Given the description of an element on the screen output the (x, y) to click on. 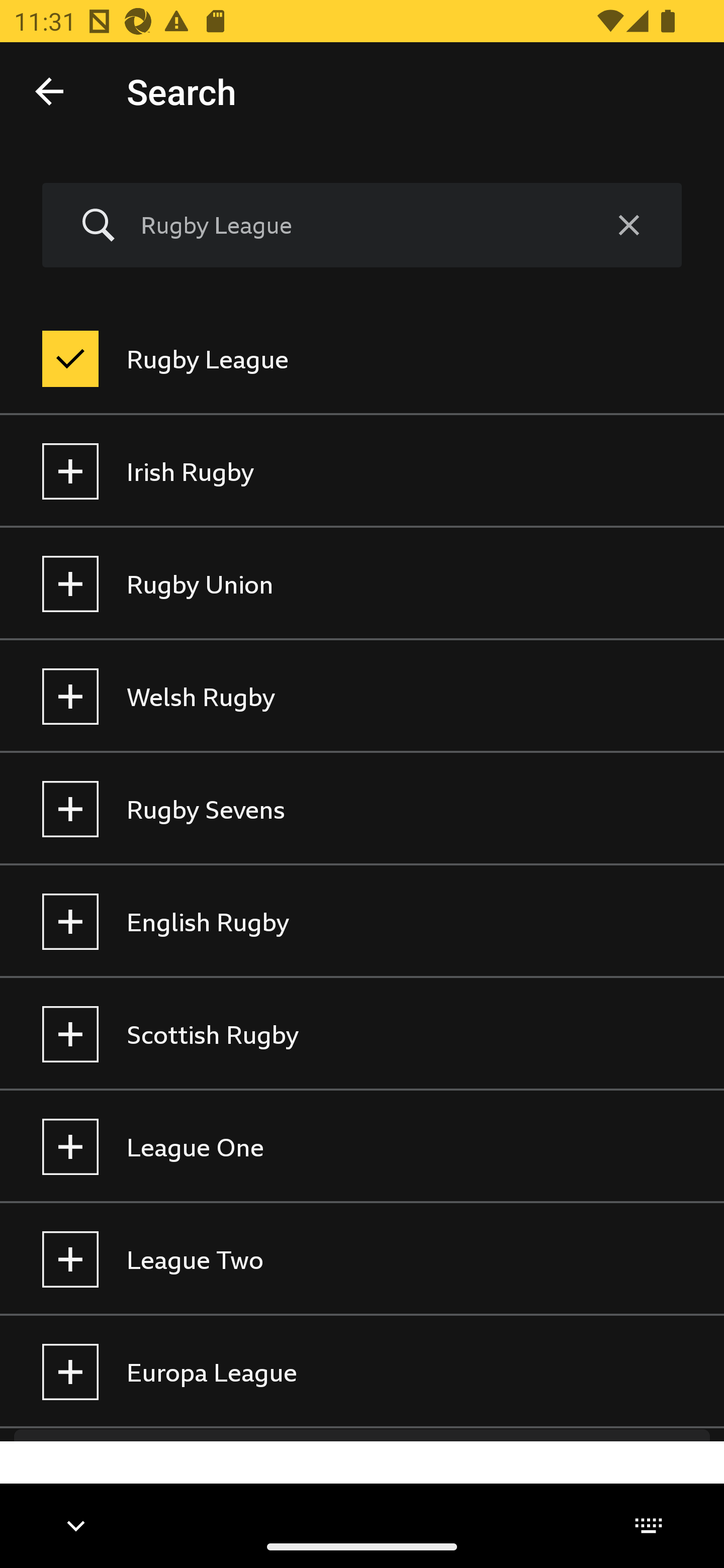
Done (49, 90)
Rugby League Clear query (361, 225)
Clear query (628, 225)
Rugby League (358, 224)
Rugby League (362, 358)
Irish Rugby (362, 471)
Rugby Union (362, 583)
Welsh Rugby (362, 695)
Rugby Sevens (362, 808)
English Rugby (362, 921)
Scottish Rugby (362, 1034)
League One (362, 1146)
League Two (362, 1258)
Europa League (362, 1371)
